Given the description of an element on the screen output the (x, y) to click on. 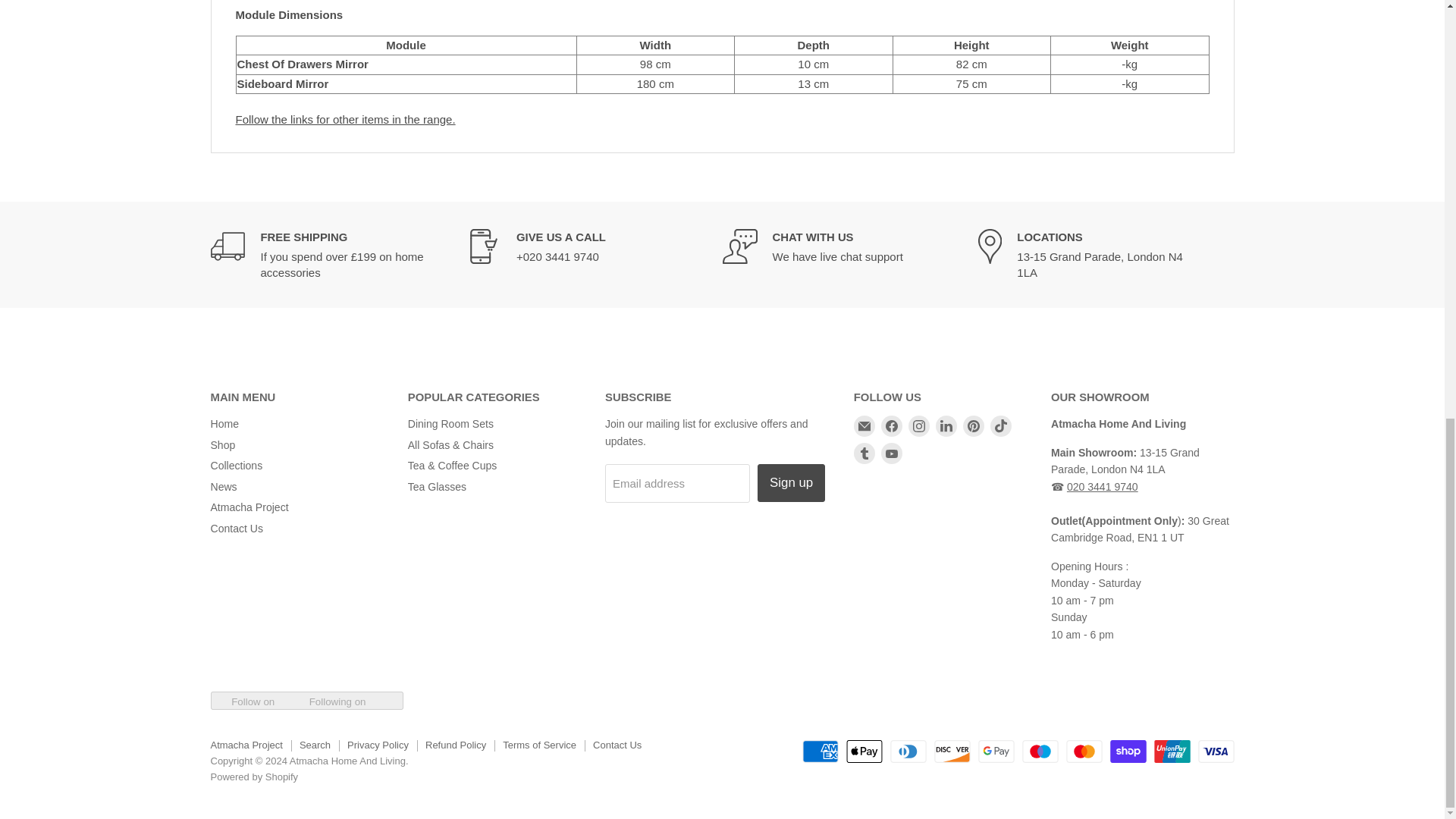
Facebook (891, 425)
TikTok (1000, 425)
Tumblr (864, 453)
YouTube (891, 453)
Email (864, 425)
Pinterest (973, 425)
LinkedIn (946, 425)
Instagram (919, 425)
